Given the description of an element on the screen output the (x, y) to click on. 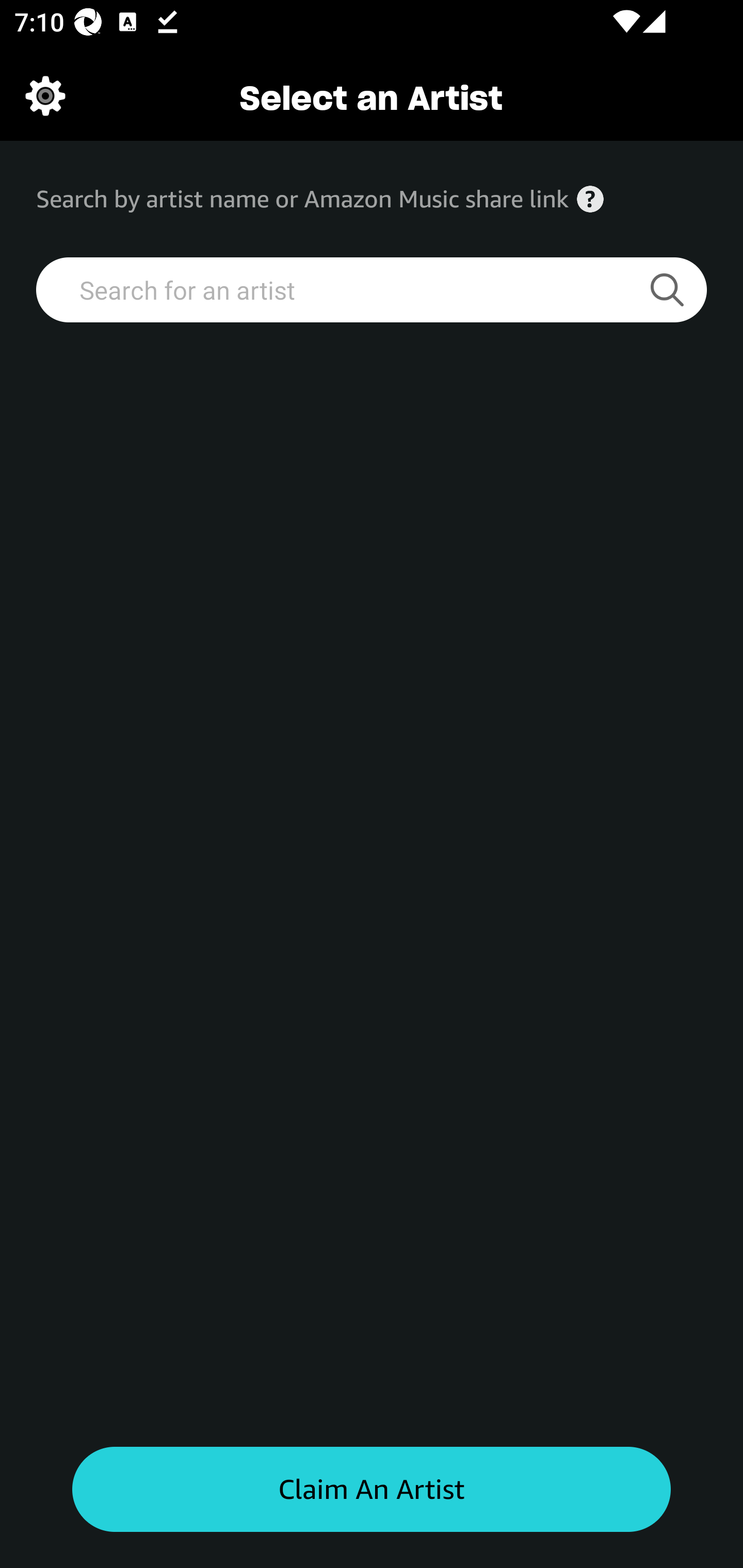
Help  icon (589, 199)
Claim an artist button Claim An Artist (371, 1489)
